Given the description of an element on the screen output the (x, y) to click on. 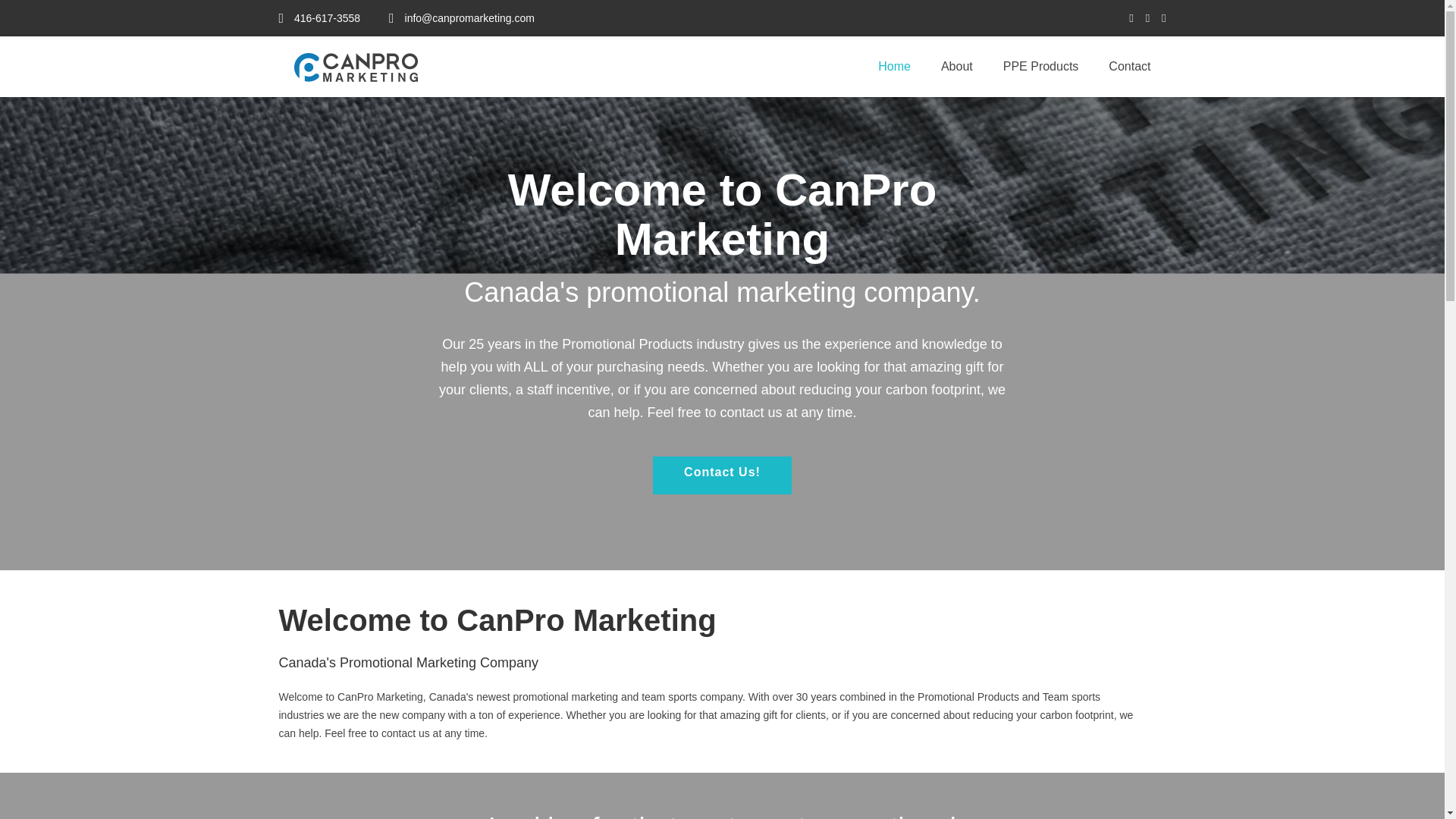
Contact (1129, 66)
PPE Products (1041, 66)
Home (894, 66)
416-617-3558 (320, 18)
About (957, 66)
Contact Us! (722, 475)
